Given the description of an element on the screen output the (x, y) to click on. 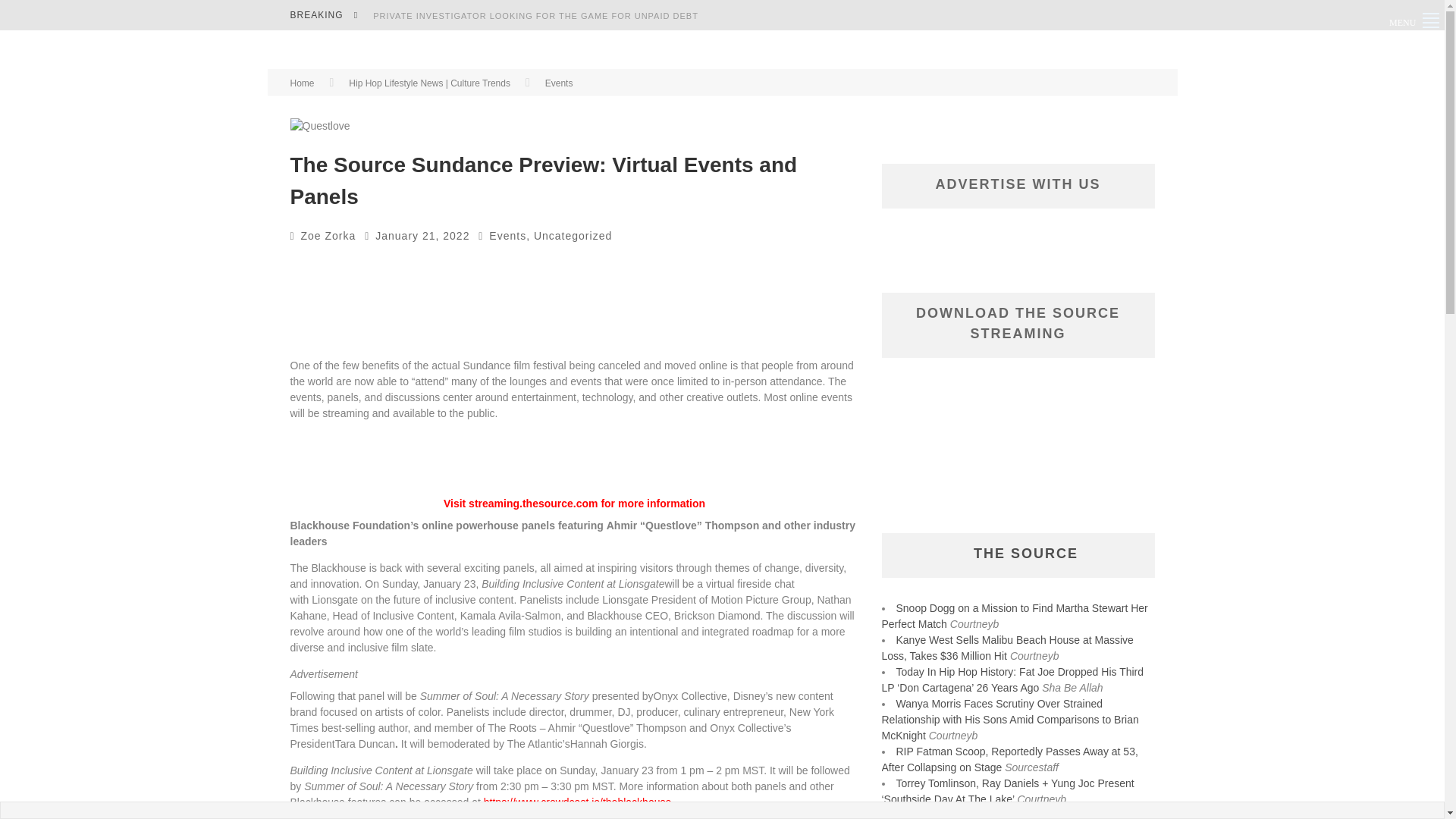
Private Investigator Looking for The Game For Unpaid Debt (535, 15)
Events (558, 82)
Home (301, 82)
Uncategorized (572, 235)
View all posts in Events (507, 235)
Zoe Zorka (328, 235)
View all posts in Uncategorized (572, 235)
View all posts in Events (558, 82)
Events (507, 235)
